Given the description of an element on the screen output the (x, y) to click on. 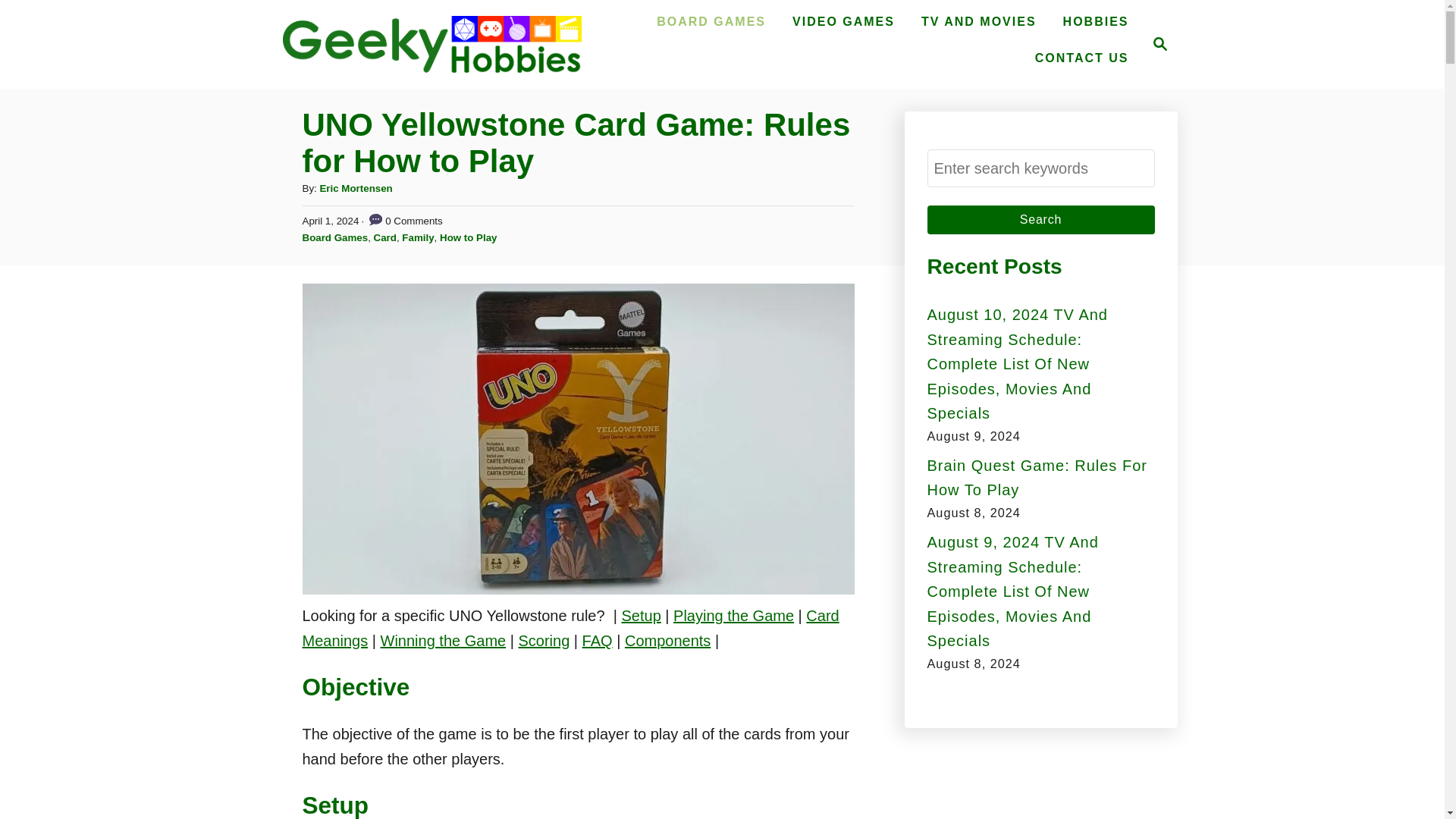
FAQ (597, 640)
Setup (641, 615)
Board Game Posts (711, 21)
Search (1040, 219)
Geeky Hobbies (431, 43)
VIDEO GAMES (843, 21)
Card (385, 237)
Playing the Game (732, 615)
BOARD GAMES (711, 21)
Board Games (334, 237)
